Given the description of an element on the screen output the (x, y) to click on. 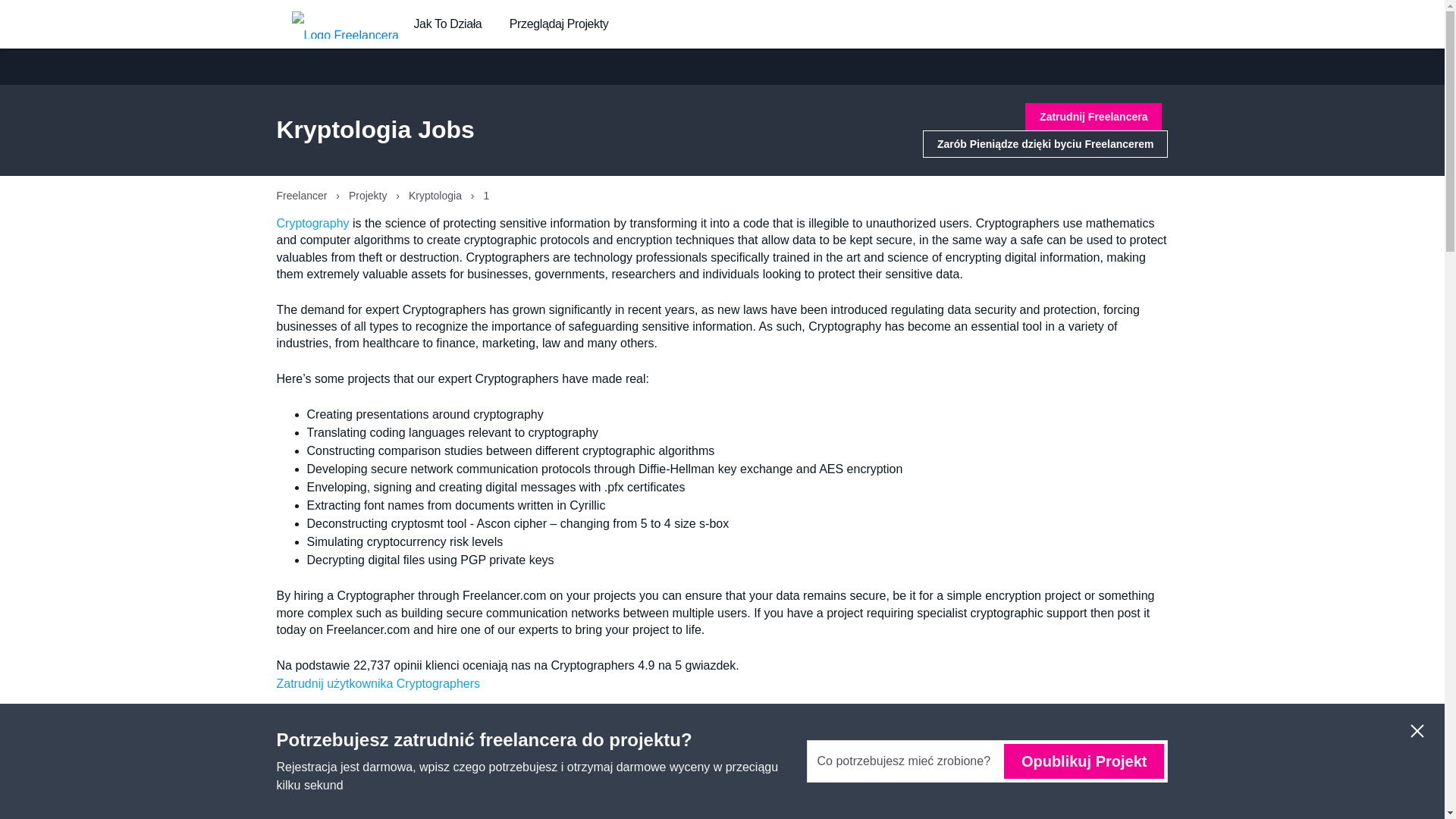
Projekty (369, 195)
Praca Online (888, 735)
Szukaj (1119, 735)
Praca Online (888, 735)
First (1042, 808)
Cryptography (312, 223)
1 (1085, 808)
Freelancer (303, 195)
Last (1128, 808)
Zatrudnij Freelancera (1093, 116)
